Given the description of an element on the screen output the (x, y) to click on. 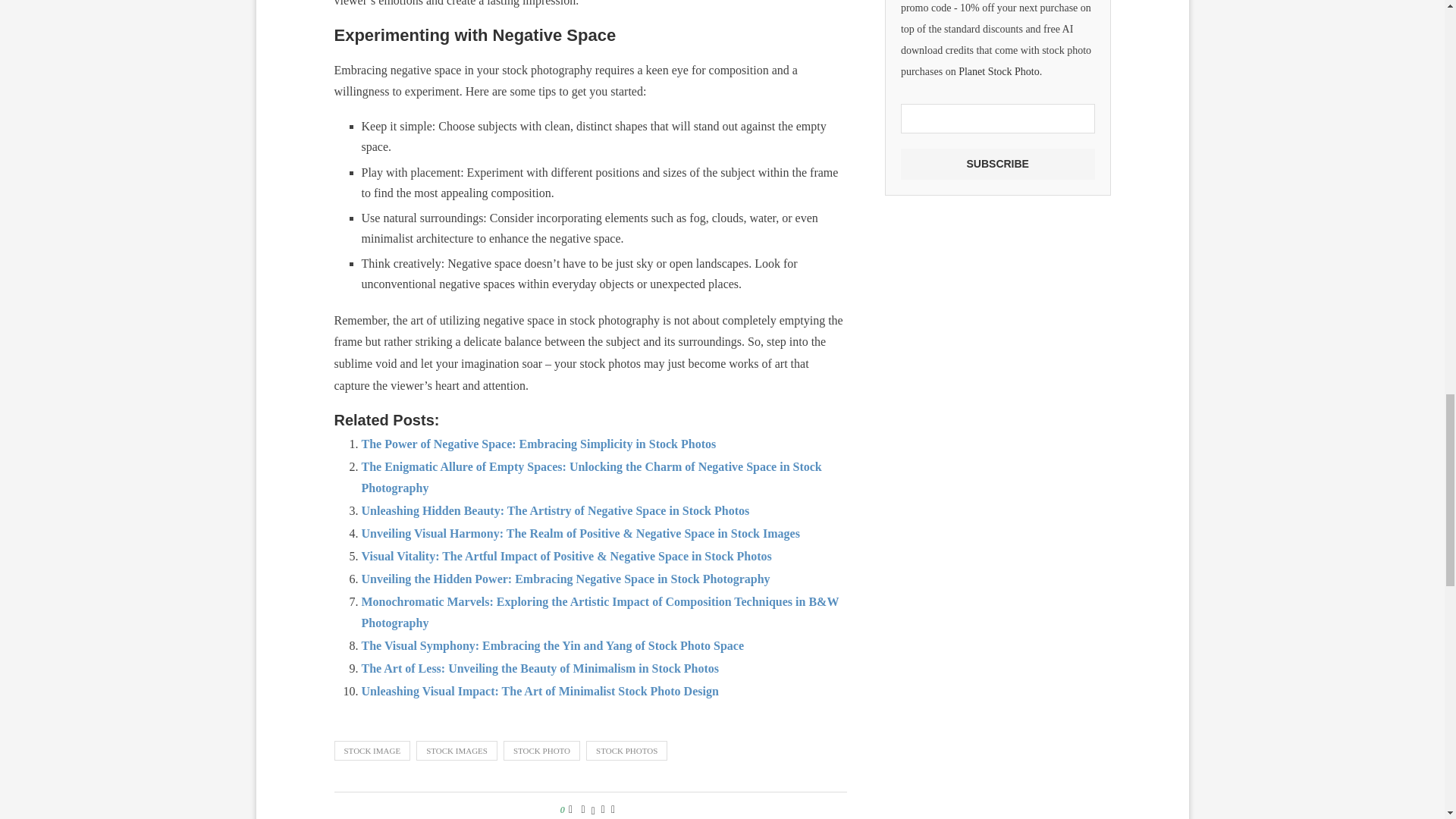
STOCK IMAGE (371, 750)
Subscribe (997, 163)
